Given the description of an element on the screen output the (x, y) to click on. 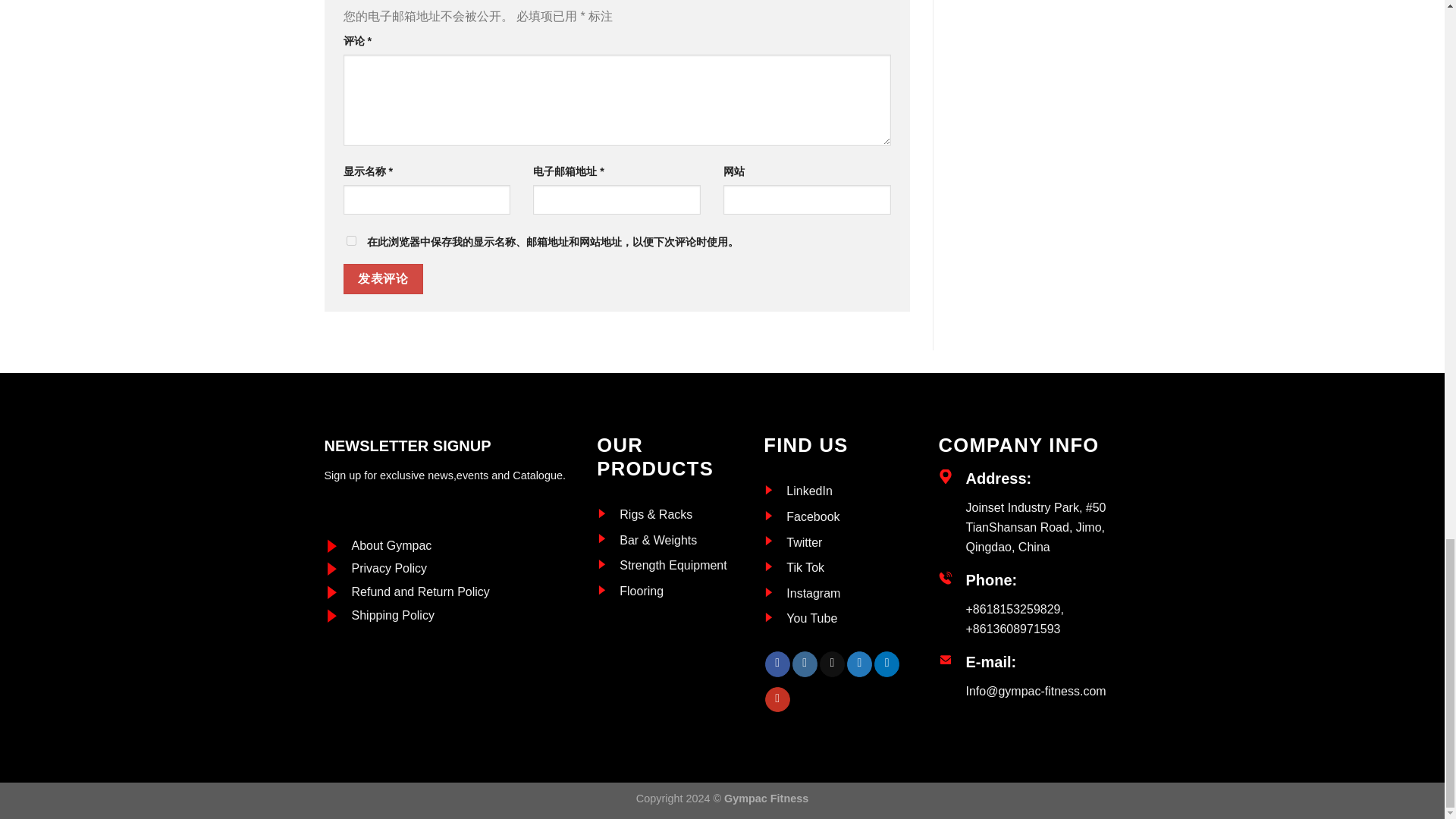
Follow on Twitter (859, 664)
Follow on Facebook (777, 664)
Follow on TikTok (831, 664)
yes (350, 240)
Follow on Instagram (804, 664)
